Given the description of an element on the screen output the (x, y) to click on. 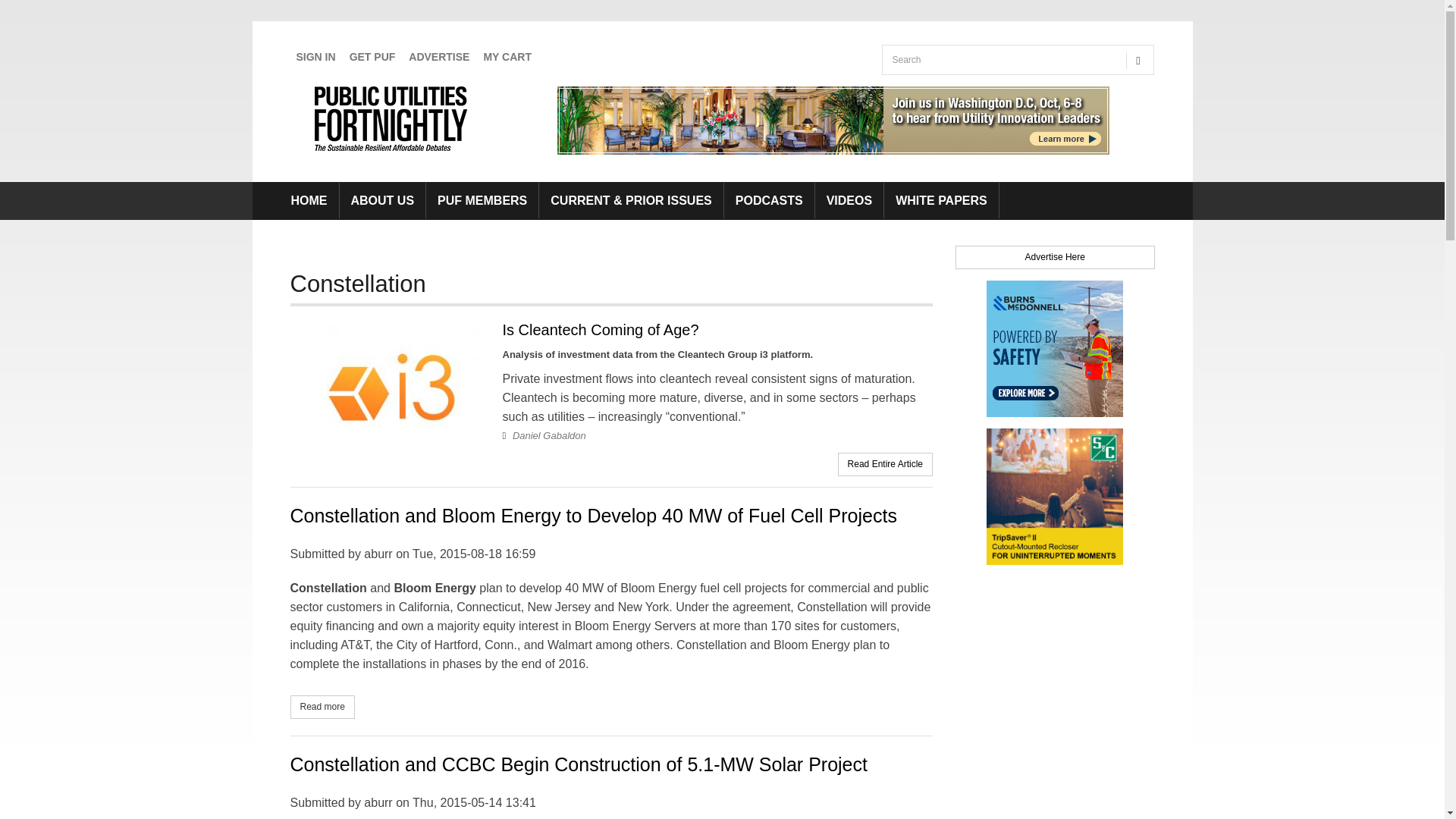
Read Entire Article (885, 463)
Is Cleantech Coming of Age? (600, 329)
HOME (308, 200)
Enter the terms you wish to search for. (1001, 60)
VIDEOS (849, 200)
Search (898, 90)
Home (393, 118)
MY CART (507, 57)
WHITE PAPERS (940, 200)
PUF MEMBERS (482, 200)
SIGN IN (314, 57)
GET PUF (372, 57)
ADVERTISE (439, 57)
